Given the description of an element on the screen output the (x, y) to click on. 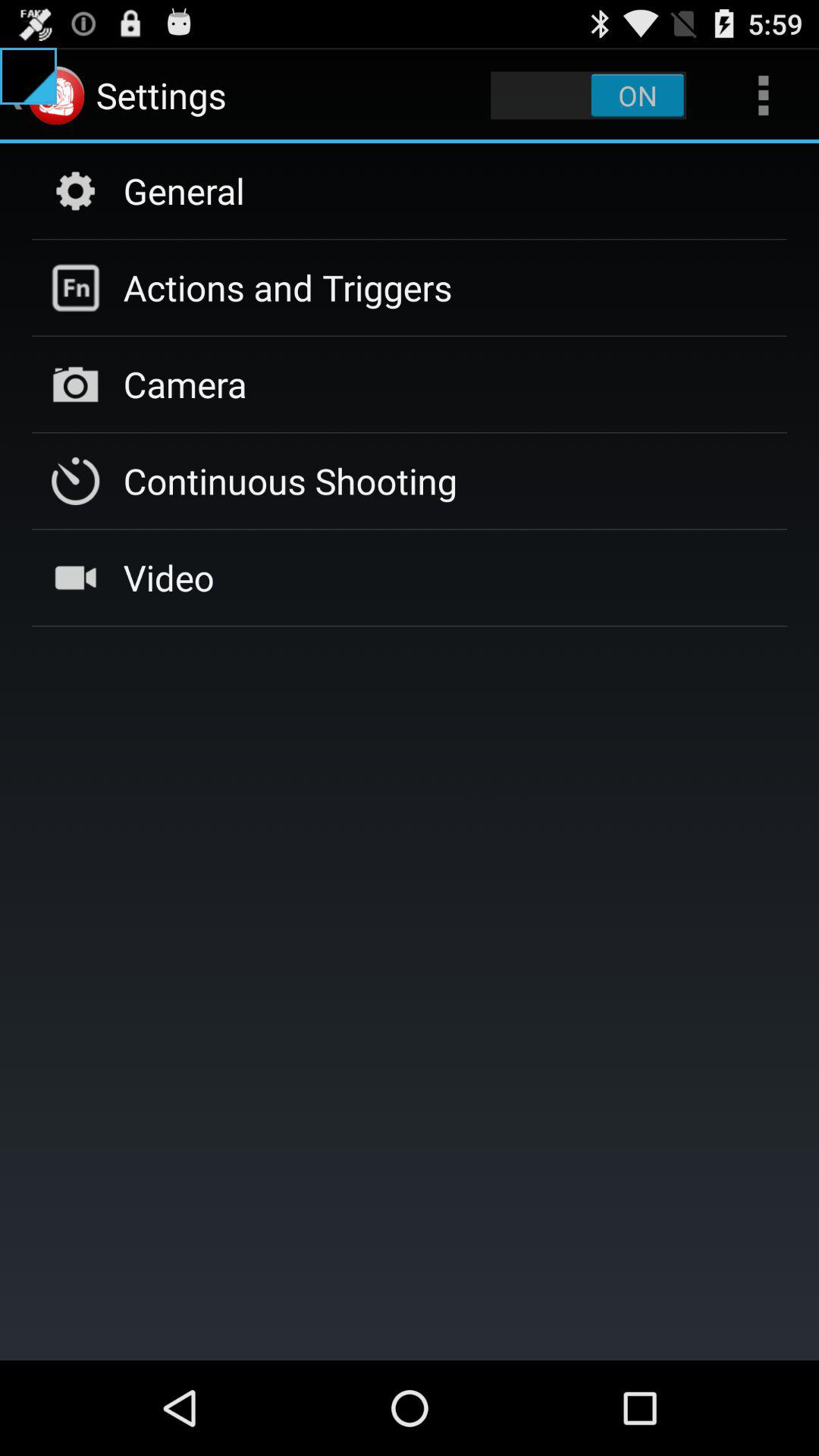
flip to camera icon (184, 384)
